Given the description of an element on the screen output the (x, y) to click on. 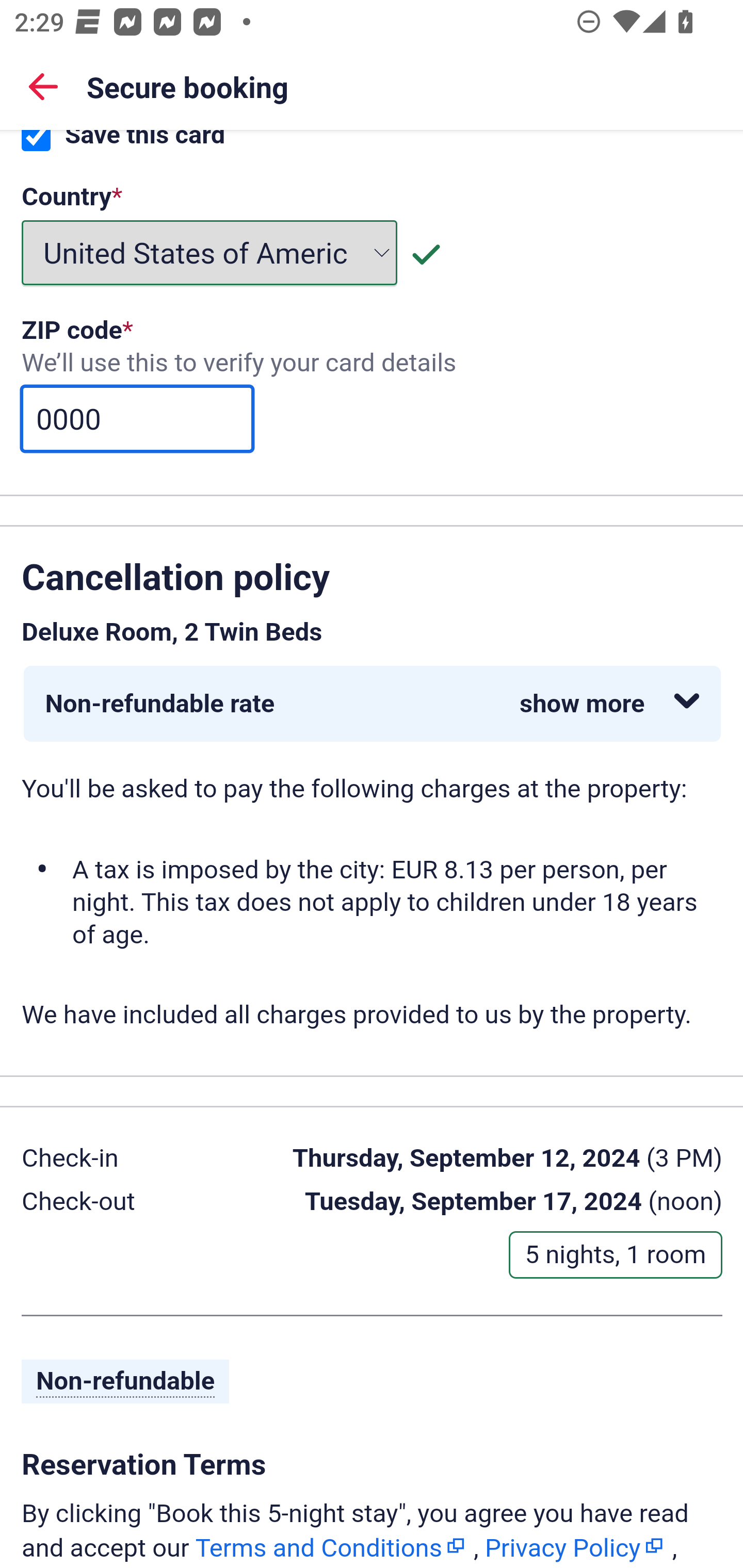
Back (43, 86)
Save this card (36, 143)
United States of America (209, 253)
0000 (136, 419)
Non-refundable rate (372, 705)
Non-refundable rate (371, 704)
Non-refundable (126, 1383)
Terms and Conditions Terms and Conditions  (330, 1547)
Privacy Policy Privacy Policy  (574, 1547)
